Given the description of an element on the screen output the (x, y) to click on. 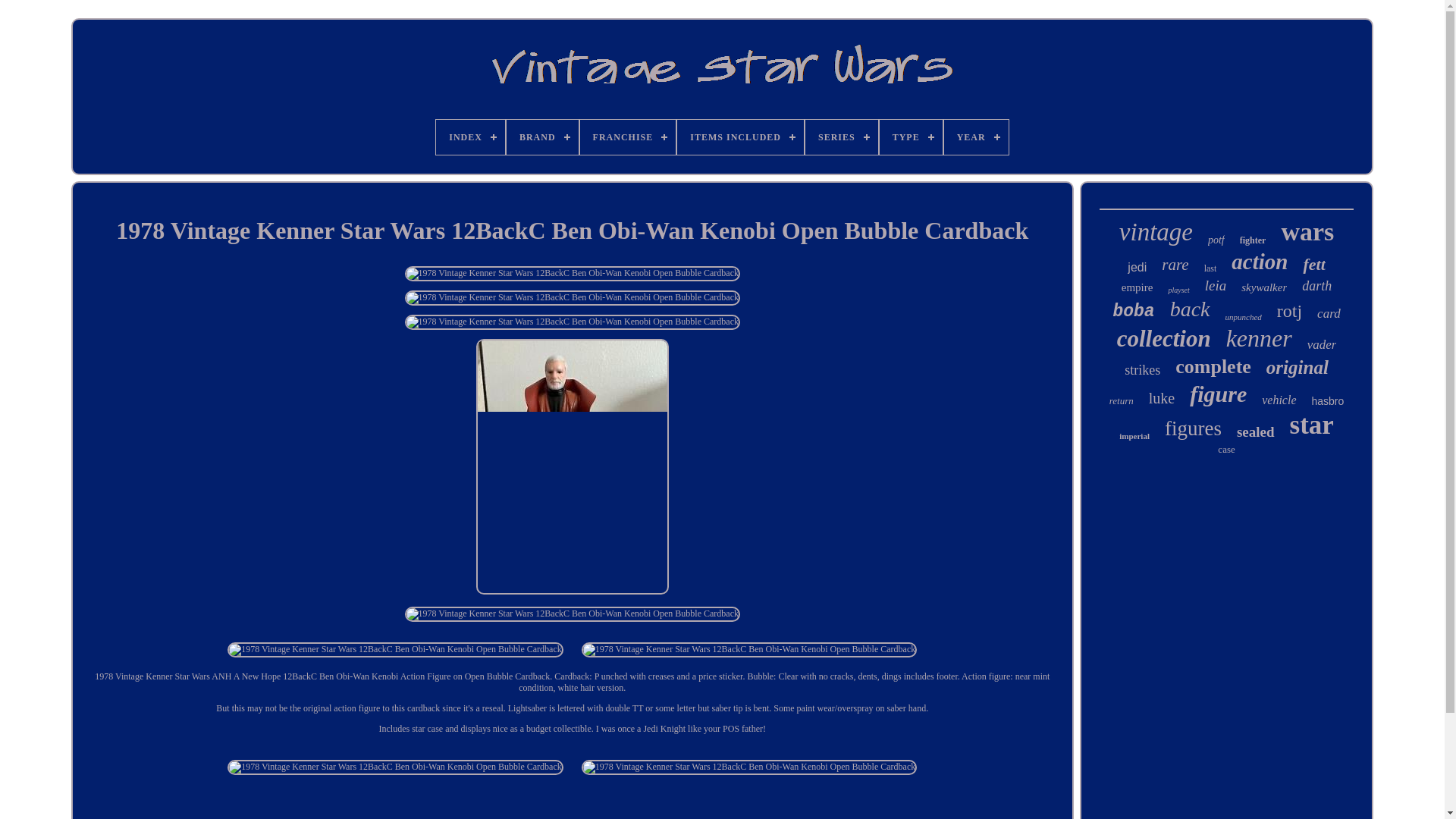
FRANCHISE (628, 136)
INDEX (470, 136)
BRAND (542, 136)
ITEMS INCLUDED (740, 136)
